Given the description of an element on the screen output the (x, y) to click on. 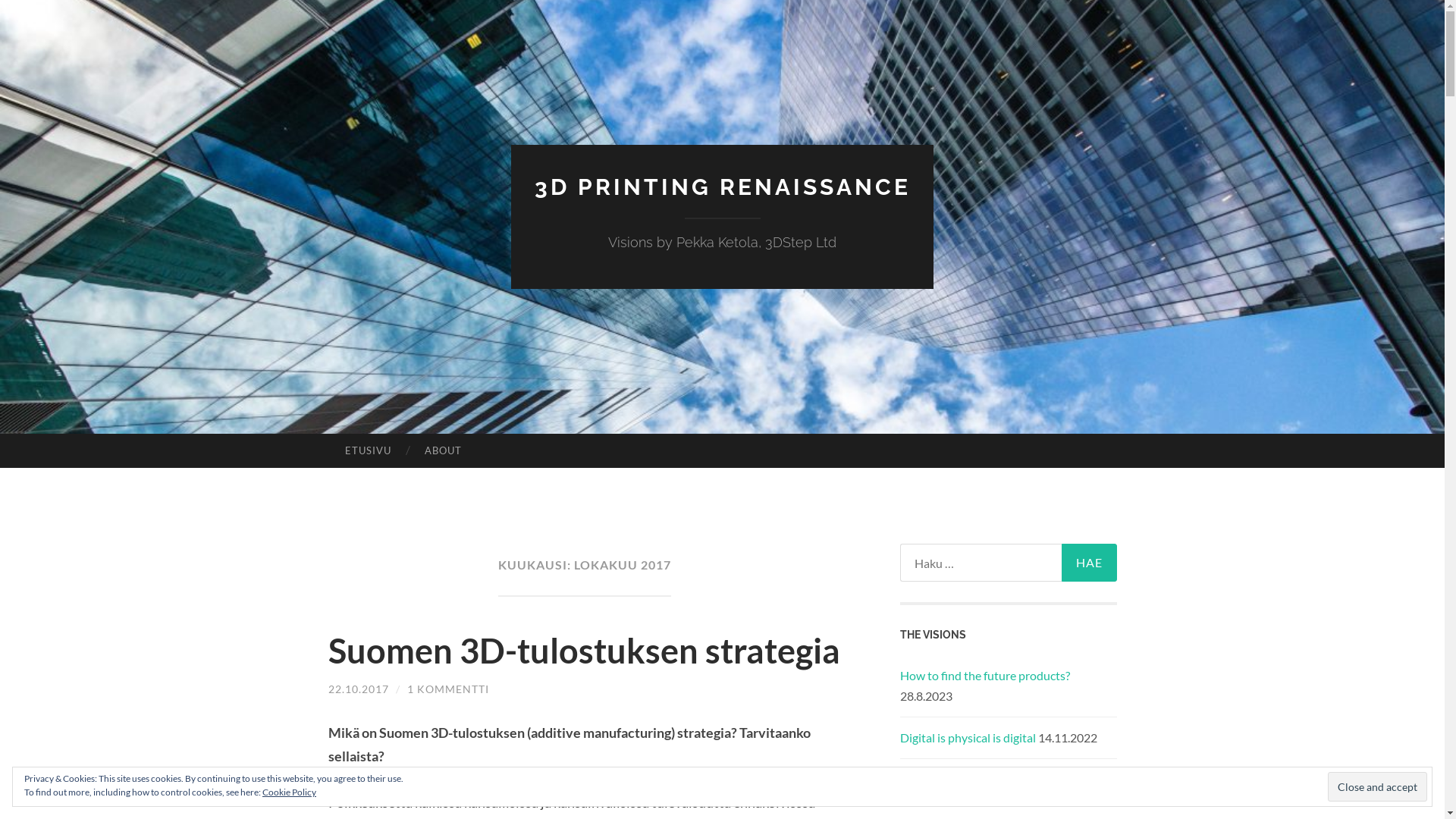
Suomen 3D-tulostuksen strategia Element type: text (583, 650)
Cookie Policy Element type: text (289, 791)
22.10.2017 Element type: text (357, 688)
1 KOMMENTTI Element type: text (447, 688)
On design principles for 3D printing Element type: text (992, 778)
Hae Element type: text (1089, 562)
How to find the future products? Element type: text (984, 675)
Digital is physical is digital Element type: text (967, 737)
Close and accept Element type: text (1377, 786)
ABOUT Element type: text (442, 450)
ETUSIVU Element type: text (367, 450)
3D PRINTING RENAISSANCE Element type: text (721, 186)
